Given the description of an element on the screen output the (x, y) to click on. 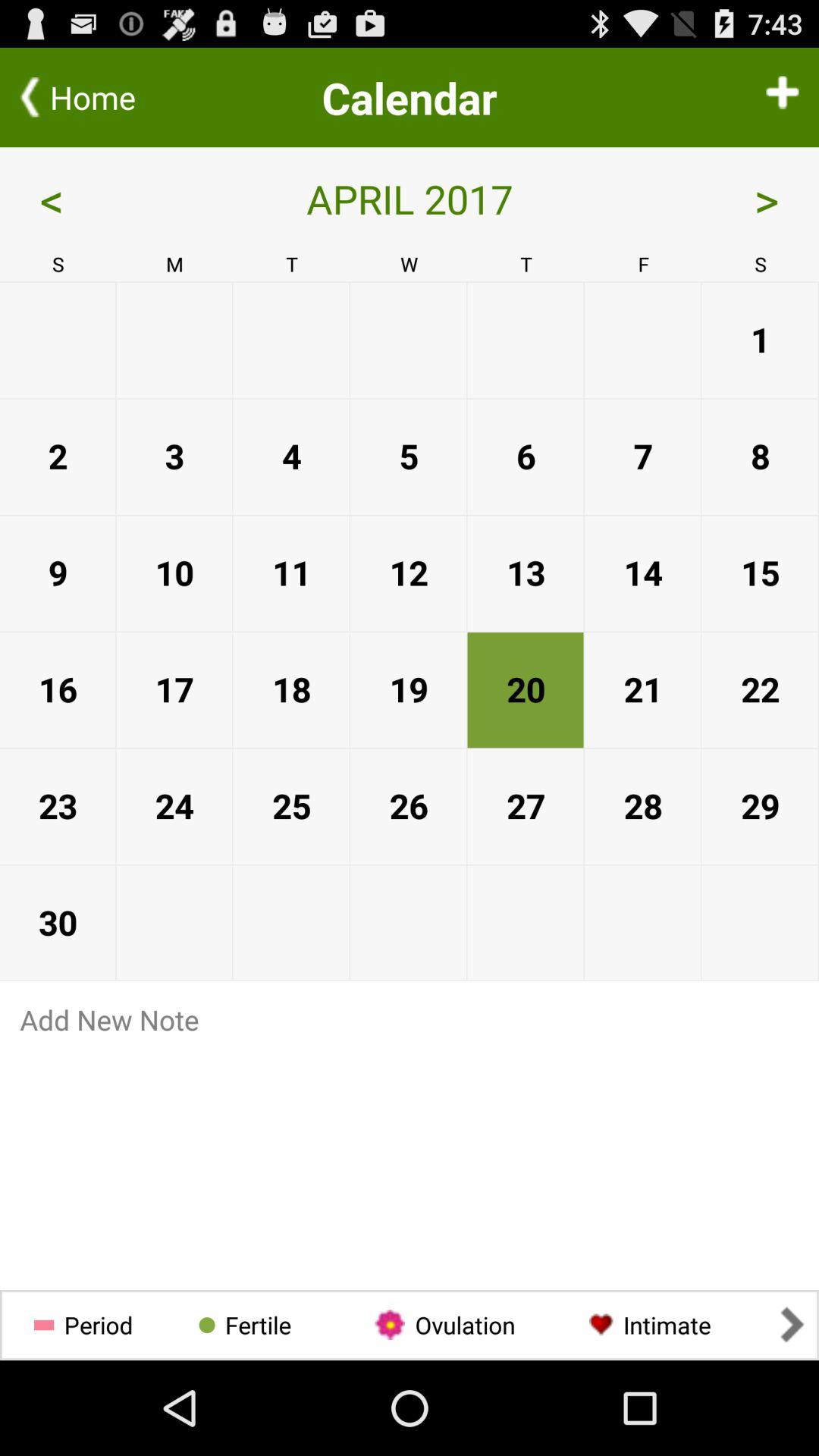
flip until the home (99, 97)
